Given the description of an element on the screen output the (x, y) to click on. 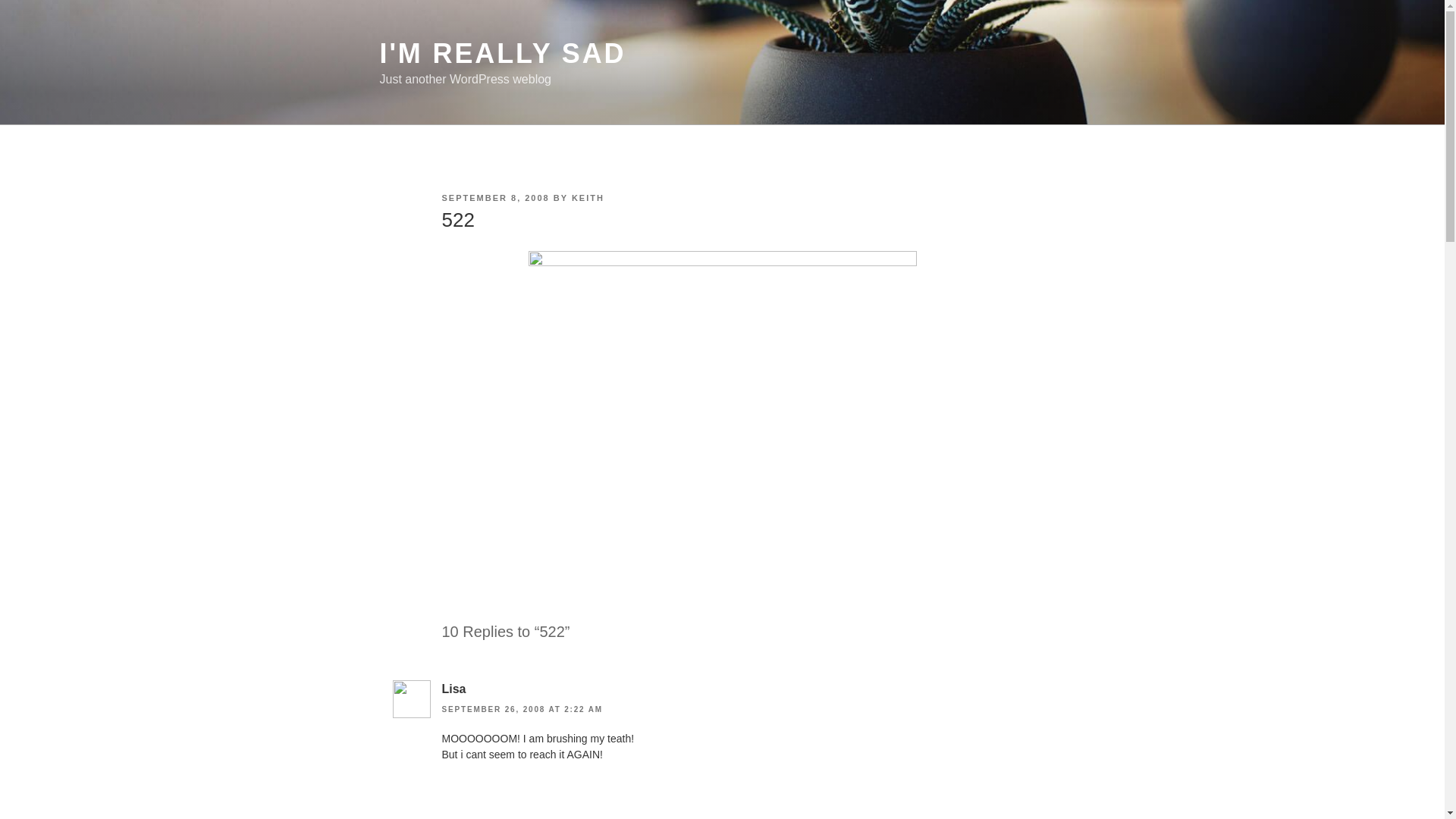
I'M REALLY SAD (502, 52)
SEPTEMBER 26, 2008 AT 2:22 AM (521, 709)
KEITH (588, 197)
SEPTEMBER 8, 2008 (494, 197)
